Given the description of an element on the screen output the (x, y) to click on. 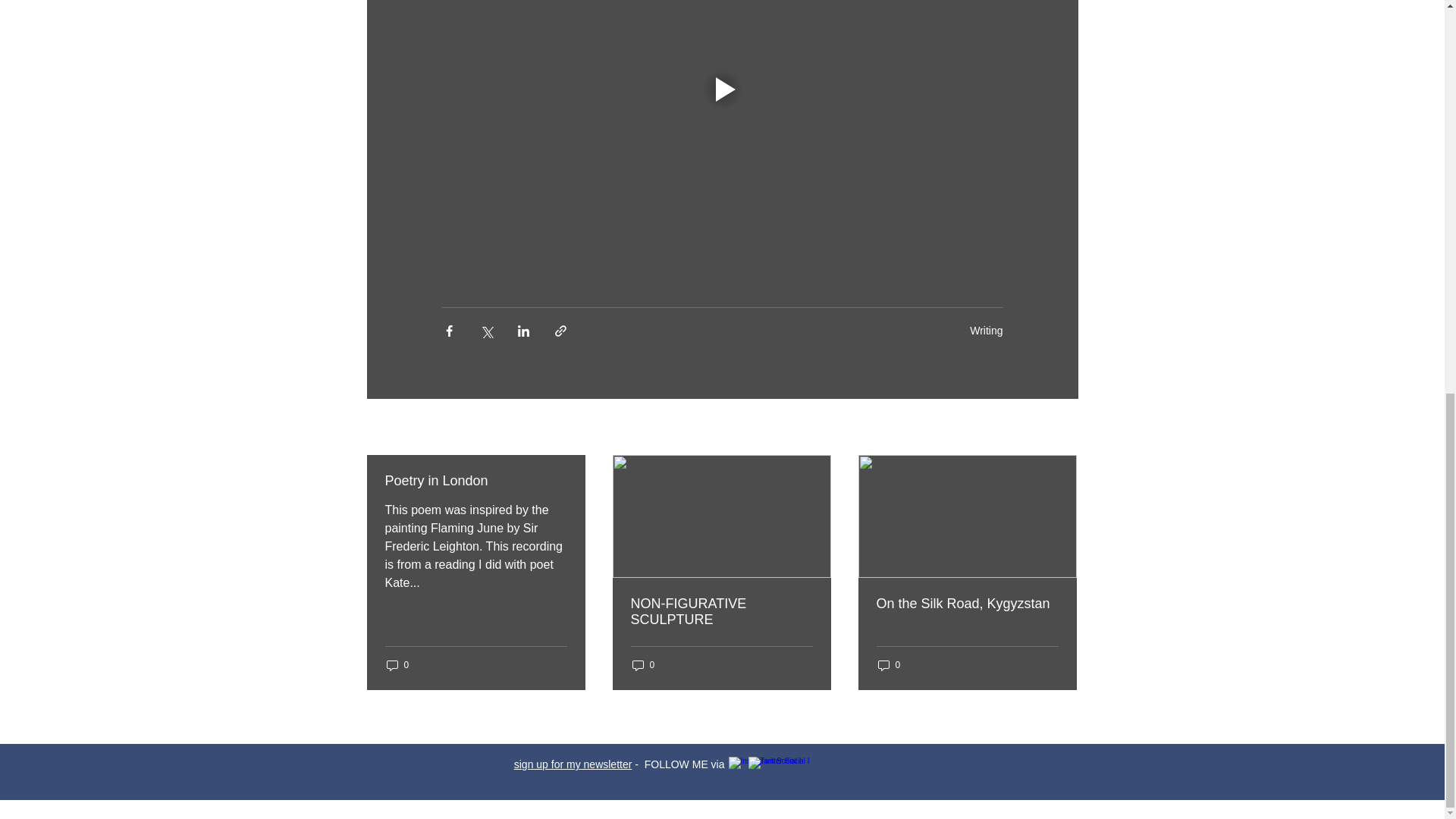
Writing (986, 330)
sign up for my newsletter (572, 764)
0 (643, 665)
NON-FIGURATIVE SCULPTURE (721, 612)
0 (889, 665)
Poetry in London (476, 480)
0 (397, 665)
On the Silk Road, Kygyzstan (967, 603)
Wix.com (833, 810)
See All (1061, 427)
